Given the description of an element on the screen output the (x, y) to click on. 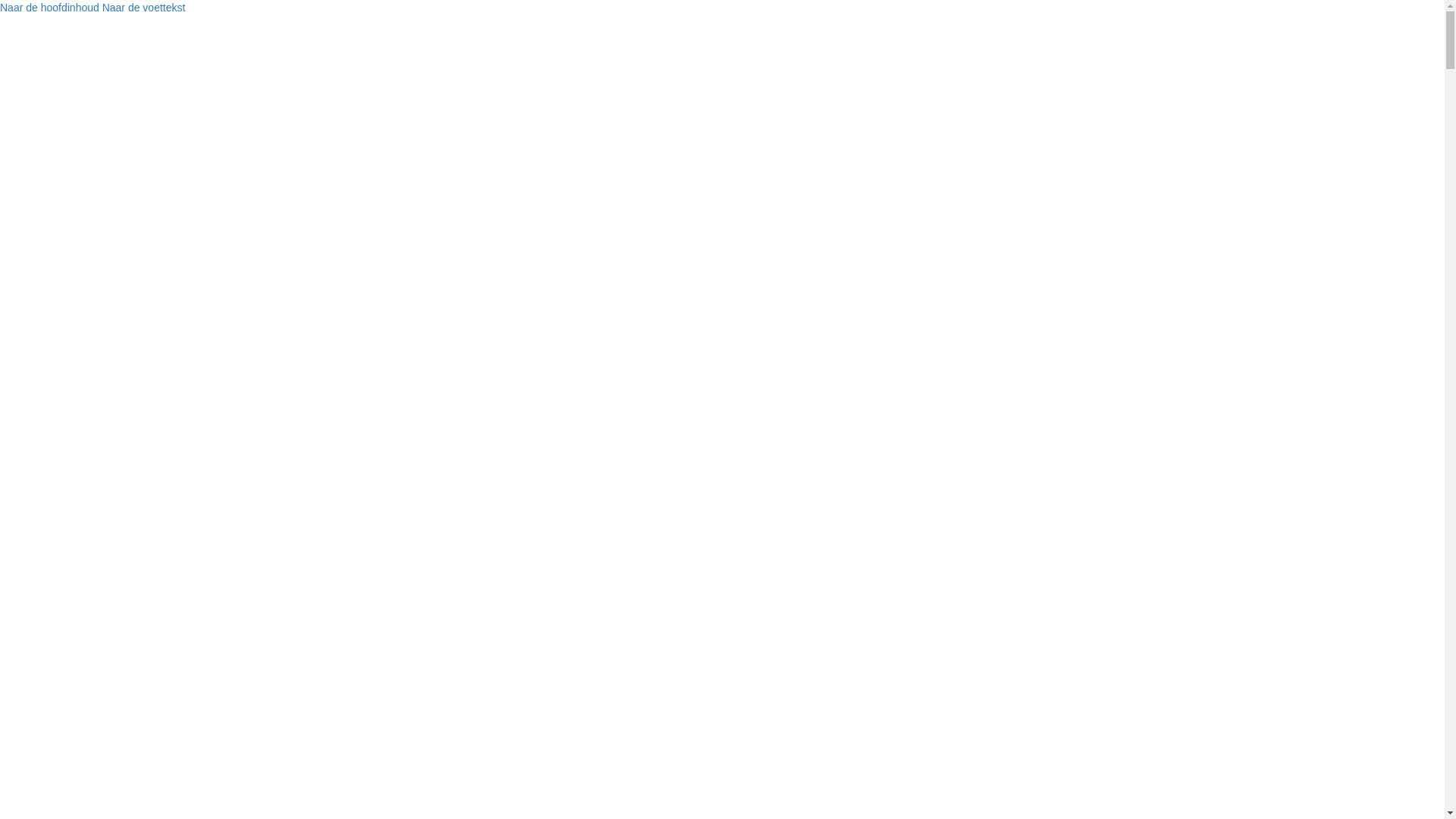
Naar de hoofdinhoud Element type: text (49, 7)
Naar de voettekst Element type: text (143, 7)
